Given the description of an element on the screen output the (x, y) to click on. 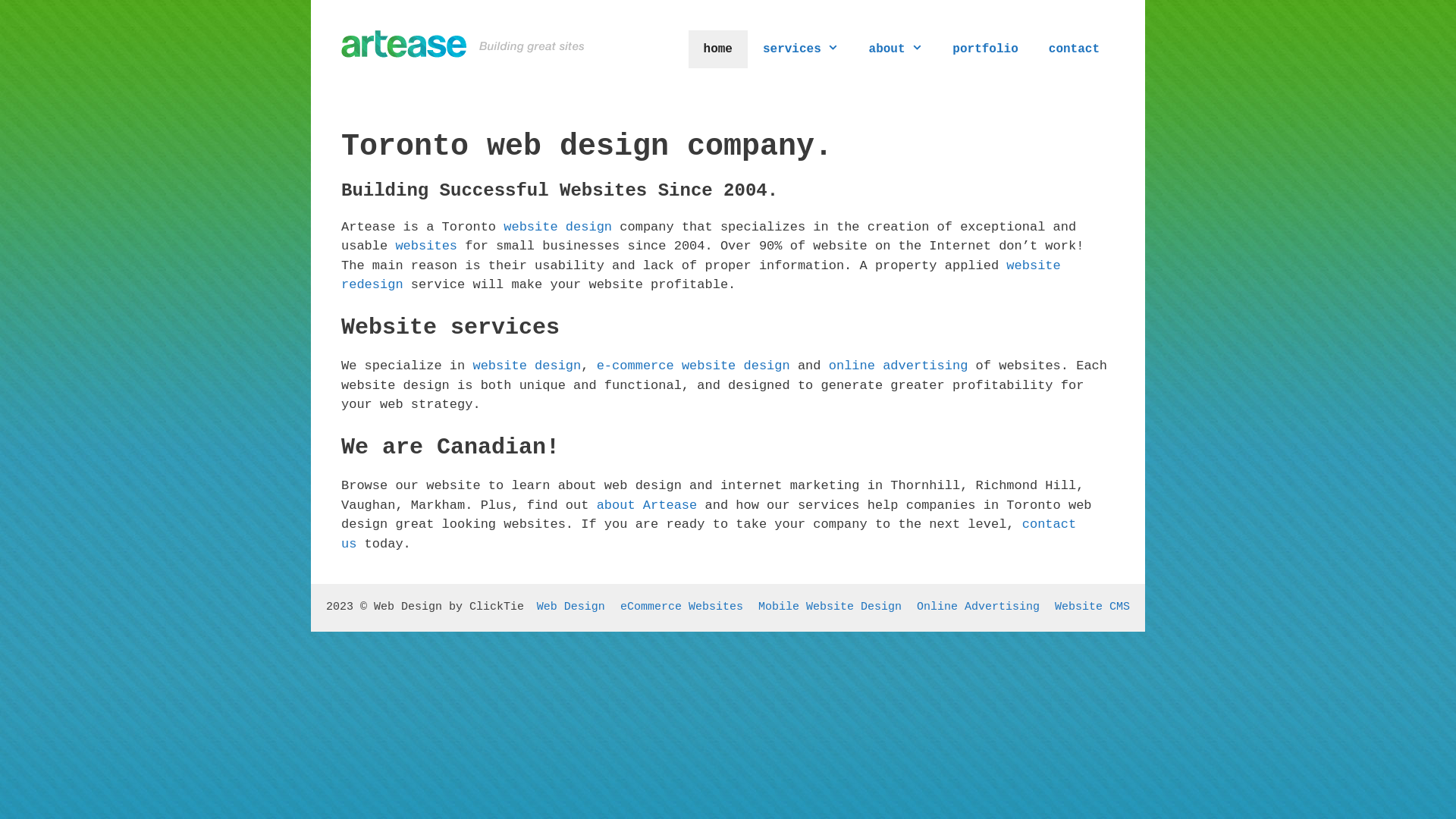
contact us Element type: text (708, 534)
website design Element type: text (557, 226)
about Artease Element type: text (646, 505)
e-commerce website design Element type: text (693, 365)
Website CMS Element type: text (1091, 606)
Online Advertising Element type: text (977, 606)
eCommerce Websites Element type: text (681, 606)
online advertising Element type: text (898, 365)
website redesign Element type: text (700, 275)
websites Element type: text (426, 245)
contact Element type: text (1073, 49)
website design Element type: text (526, 365)
services Element type: text (800, 49)
Web Design Element type: text (570, 606)
Artease Element type: hover (462, 43)
about Element type: text (895, 49)
Mobile Website Design Element type: text (829, 606)
Artease Element type: hover (462, 43)
portfolio Element type: text (984, 49)
home Element type: text (717, 49)
